Given the description of an element on the screen output the (x, y) to click on. 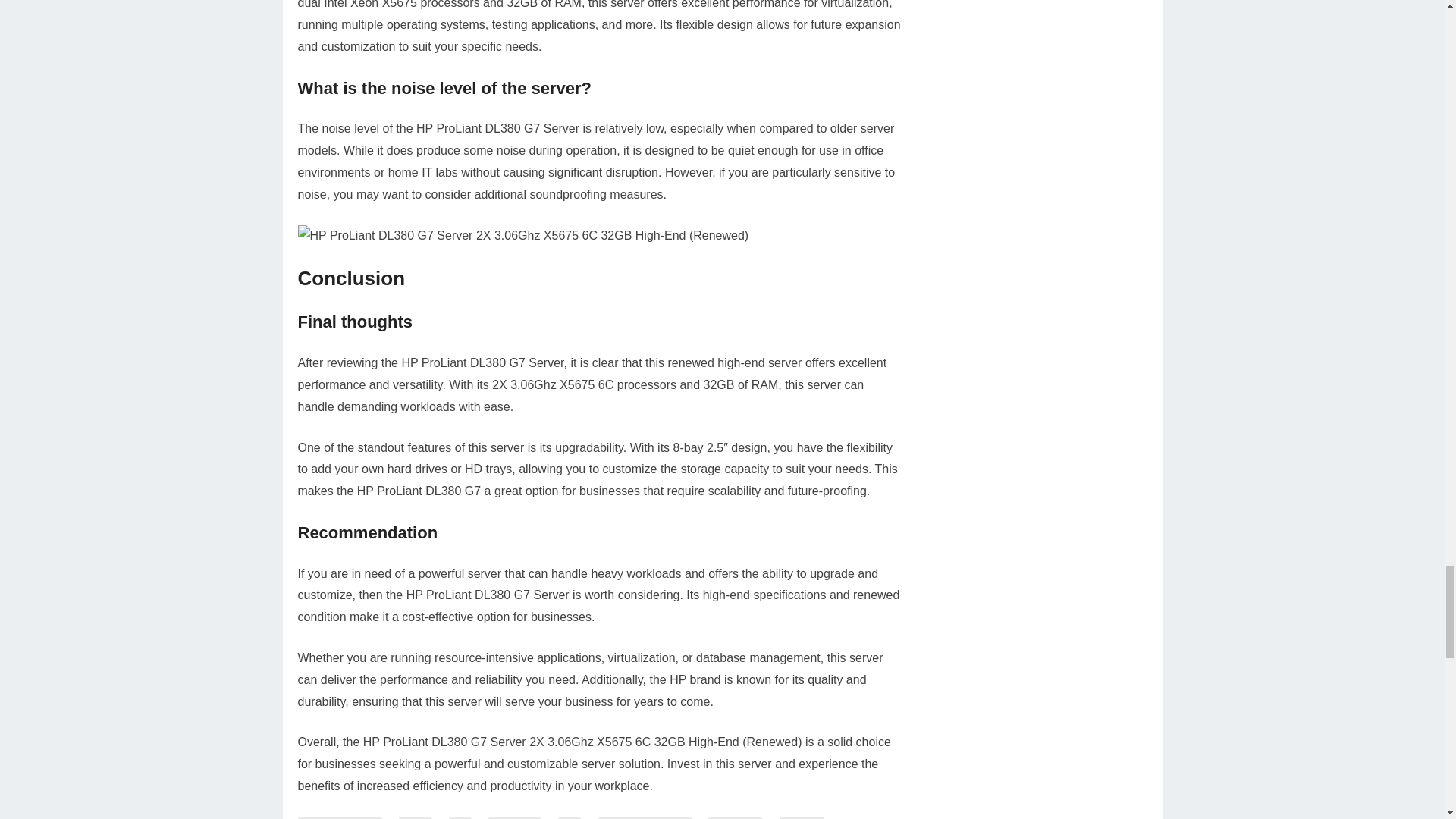
6C (459, 818)
REVIEW (800, 818)
RENEWED (734, 818)
HP (568, 818)
2X 3.06GHZ X5675 (338, 818)
32GB (414, 818)
HIGH-END (513, 818)
PROLIANT DL380 G7 (644, 818)
